Given the description of an element on the screen output the (x, y) to click on. 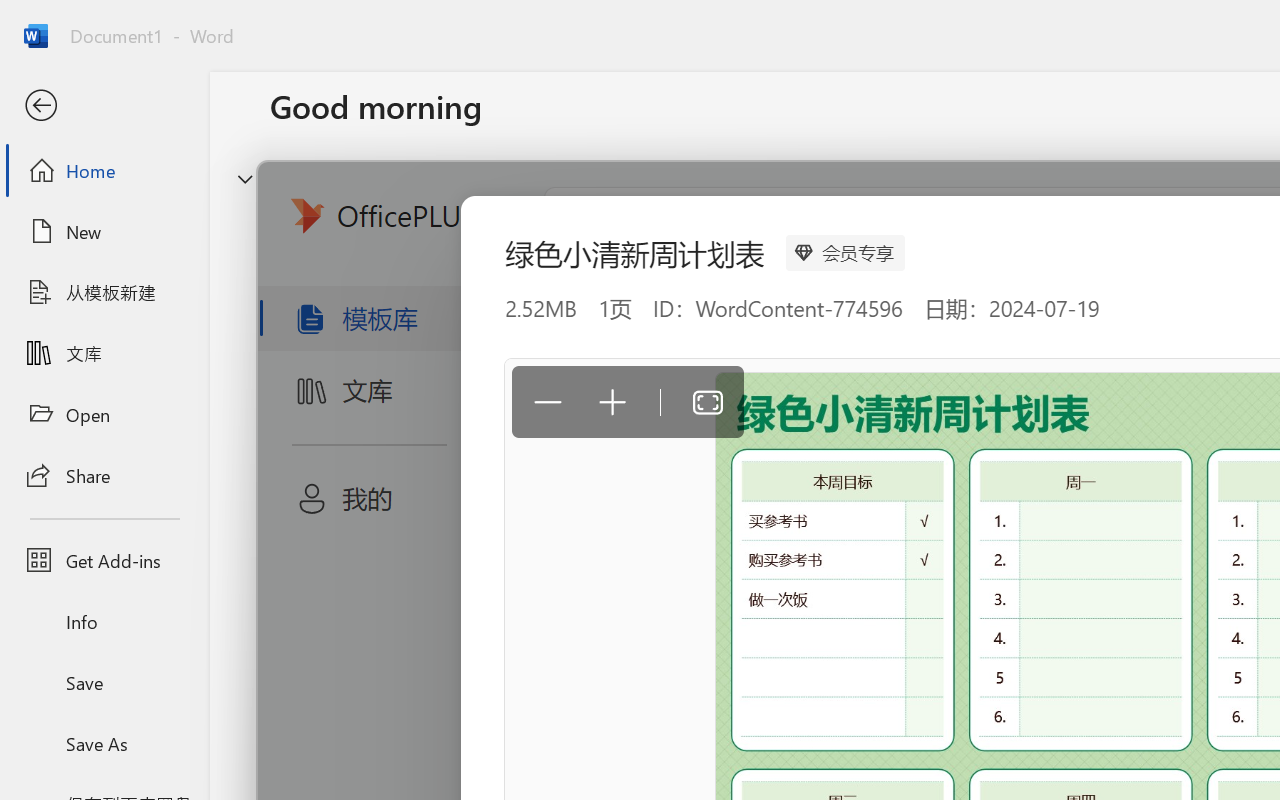
New Tab (299, 22)
Create your Google Account (1033, 22)
Create your Google Account (613, 22)
More actions for Chrome Web Store shortcut (1208, 518)
Sign in - Google Accounts (823, 22)
More actions for Sign in shortcut (1095, 518)
